Given the description of an element on the screen output the (x, y) to click on. 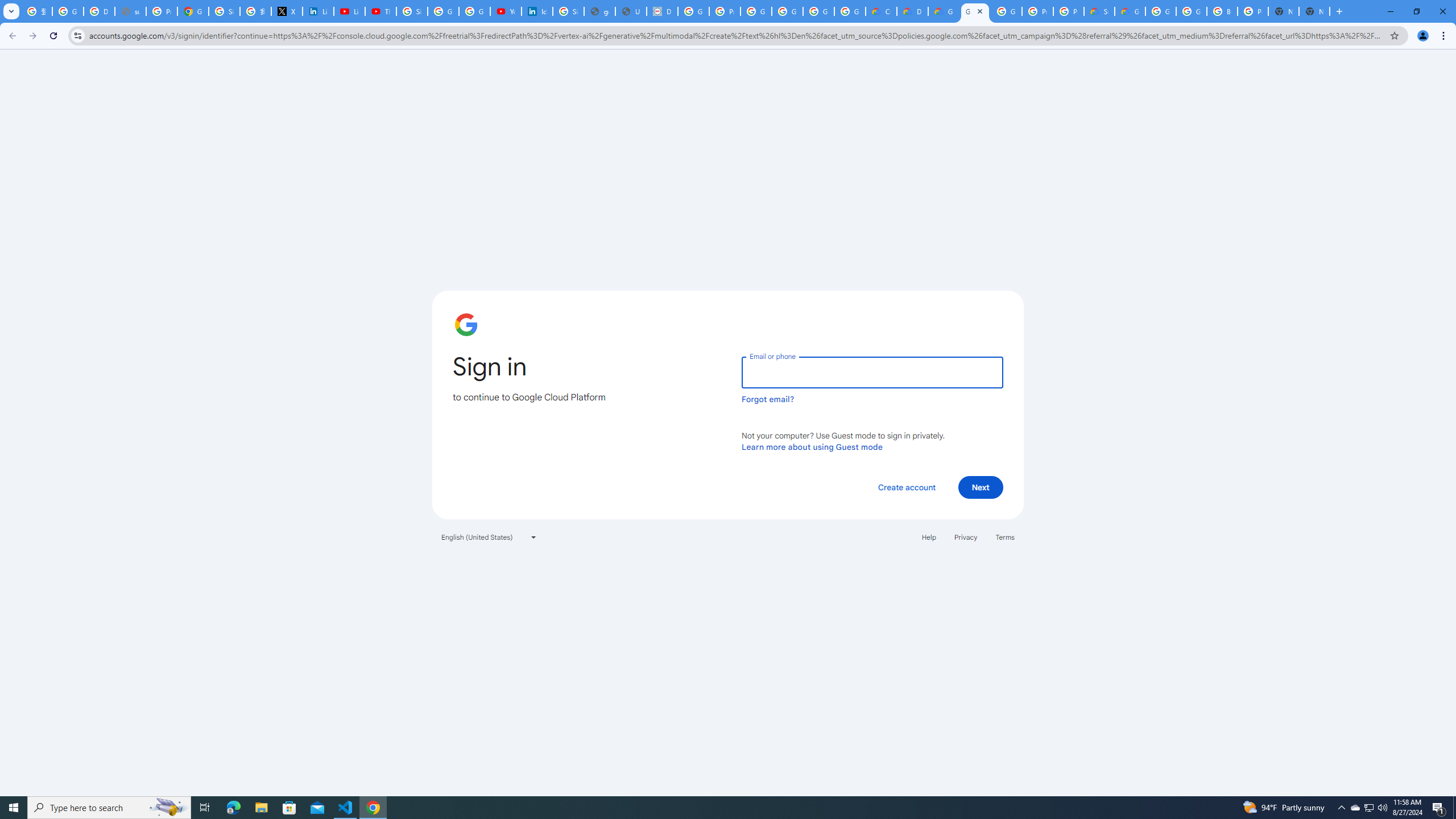
User Details (631, 11)
Support Hub | Google Cloud (1098, 11)
Google Workspace - Specific Terms (818, 11)
Help (928, 536)
LinkedIn Privacy Policy (318, 11)
Sign in - Google Accounts (568, 11)
